Given the description of an element on the screen output the (x, y) to click on. 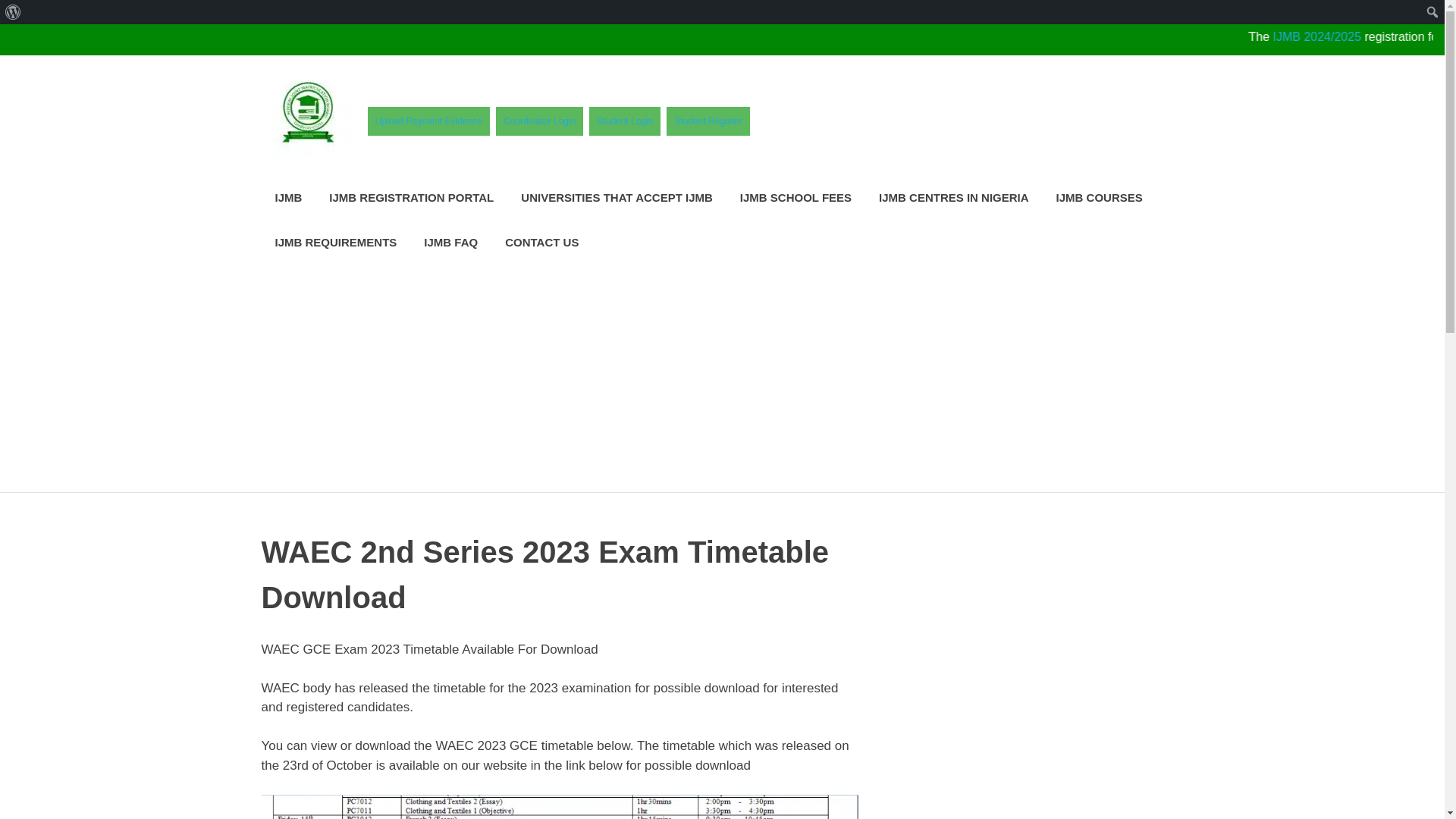
IJMB REGISTRATION PORTAL (410, 198)
IJMB FAQ (451, 242)
IJMB (287, 198)
CONTACT US (542, 242)
IJMB SCHOOL FEES (795, 198)
Upload Payment Evidence (427, 121)
IJMB COURSES (1099, 198)
IJMB REQUIREMENTS (335, 242)
UNIVERSITIES THAT ACCEPT IJMB (616, 198)
Coordinator Login (539, 121)
